Given the description of an element on the screen output the (x, y) to click on. 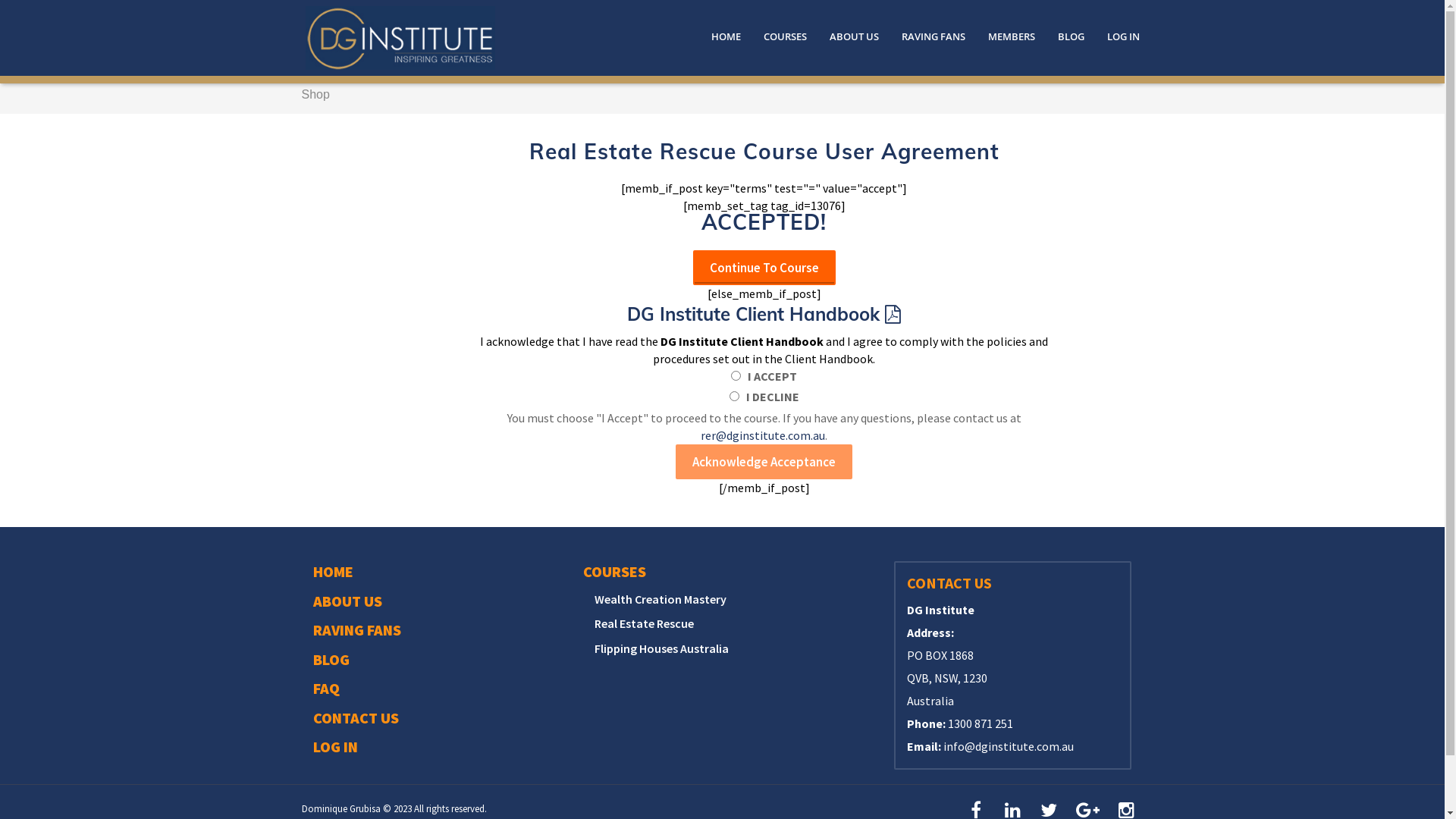
COURSES Element type: text (614, 572)
RAVING FANS Element type: text (933, 36)
info@dginstitute.com.au Element type: text (1008, 745)
LOG IN Element type: text (334, 747)
Wealth Creation Mastery Element type: text (660, 599)
Shop Element type: text (314, 94)
CONTACT US Element type: text (355, 718)
RAVING FANS Element type: text (356, 630)
BLOG Element type: text (1070, 36)
rer@dginstitute.com.au Element type: text (762, 434)
DG Institute Element type: text (399, 28)
Continue To Course Element type: text (764, 267)
COURSES Element type: text (785, 36)
FAQ Element type: text (325, 688)
BLOG Element type: text (330, 660)
Real Estate Rescue Element type: text (643, 623)
ABOUT US Element type: text (853, 36)
MEMBERS Element type: text (1011, 36)
HOME Element type: text (725, 36)
DG Institute Client Handbook Element type: text (763, 313)
ABOUT US Element type: text (346, 601)
HOME Element type: text (332, 572)
Flipping Houses Australia Element type: text (661, 648)
LOG IN Element type: text (1117, 36)
Acknowledge Acceptance Element type: text (763, 461)
